Given the description of an element on the screen output the (x, y) to click on. 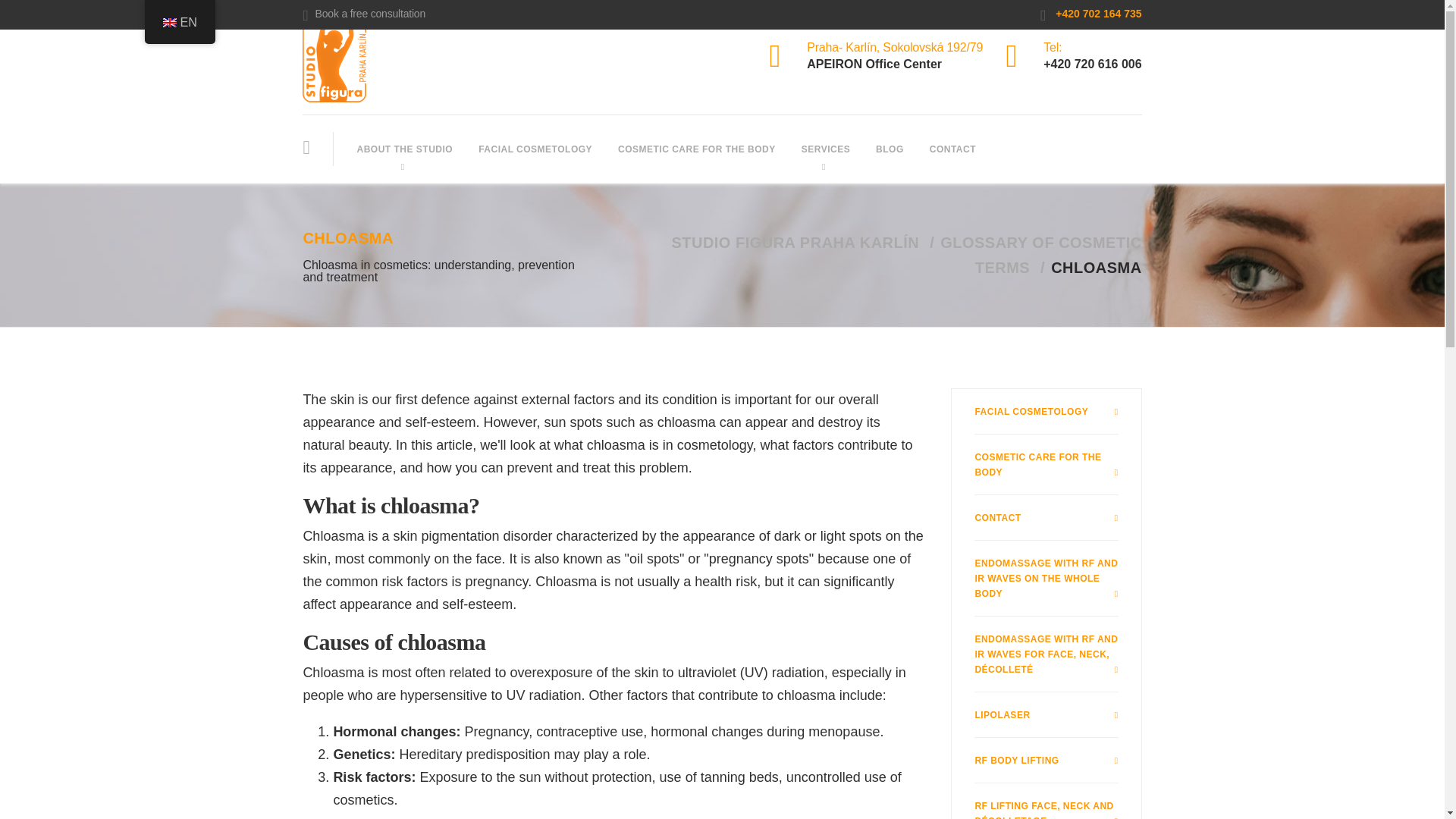
English (168, 22)
GLOSSARY OF COSMETIC TERMS (1040, 255)
CONTACT (952, 149)
FACIAL COSMETOLOGY (1046, 411)
ABOUT THE STUDIO (404, 149)
Book a free consultation (363, 14)
COSMETIC CARE FOR THE BODY (697, 149)
SERVICES (826, 149)
COSMETIC CARE FOR THE BODY (1046, 464)
FACIAL COSMETOLOGY (535, 149)
